Given the description of an element on the screen output the (x, y) to click on. 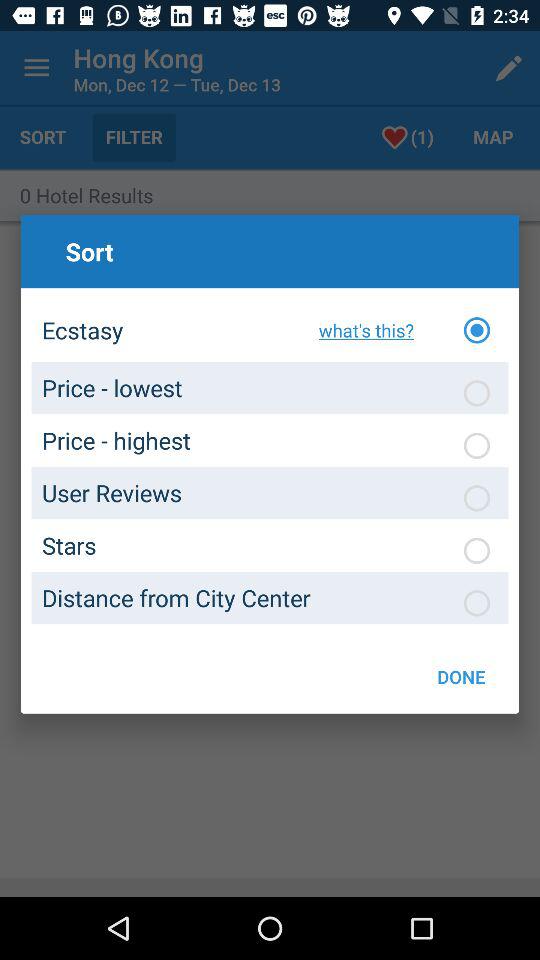
launch what's this? item (360, 330)
